Given the description of an element on the screen output the (x, y) to click on. 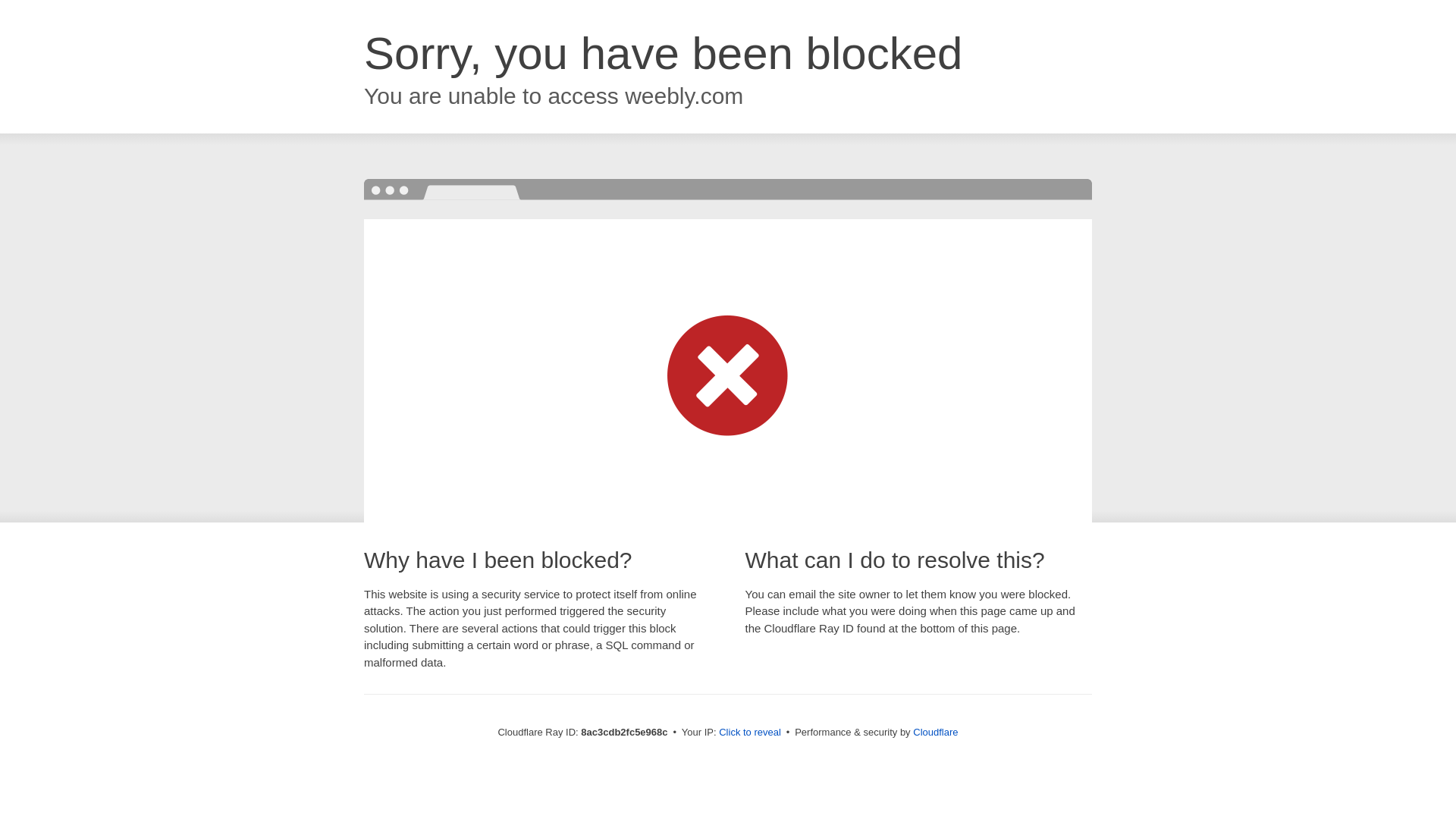
Click to reveal (749, 732)
Cloudflare (935, 731)
